Given the description of an element on the screen output the (x, y) to click on. 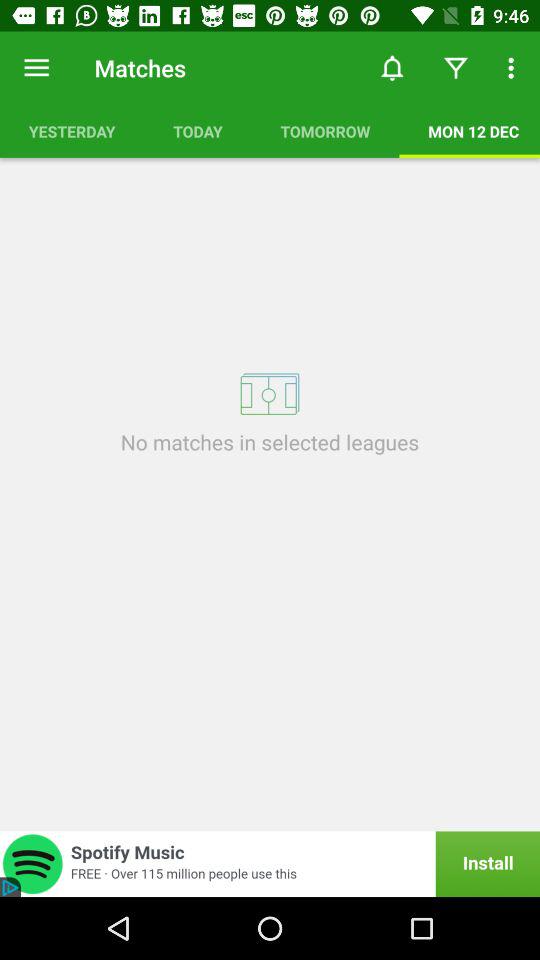
press the icon to the left of today icon (72, 131)
